Given the description of an element on the screen output the (x, y) to click on. 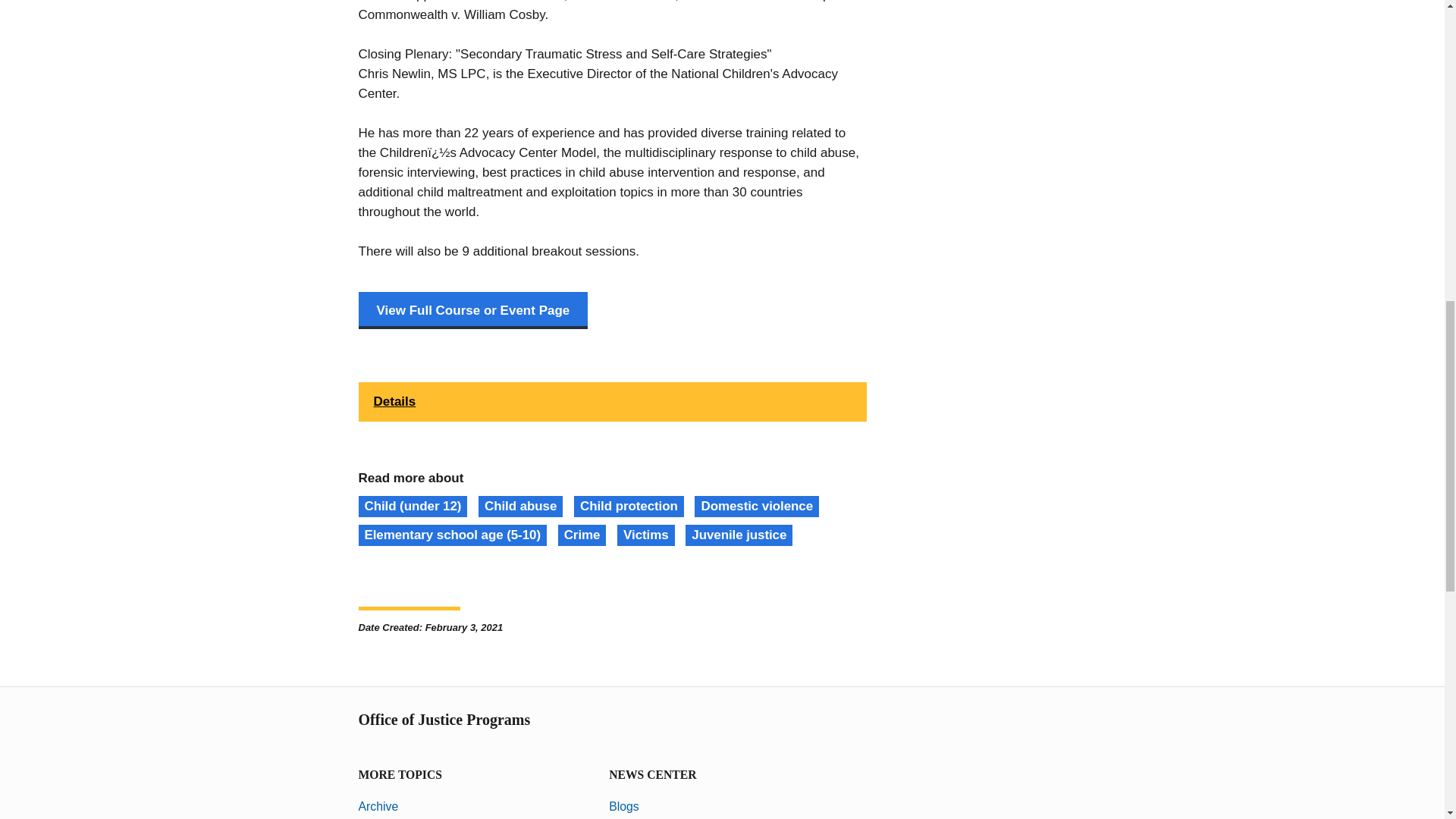
Child abuse (520, 506)
Domestic violence (756, 506)
Juvenile justice (738, 535)
View Full Course or Event Page (473, 310)
Child protection (628, 506)
Victims (645, 535)
Crime (582, 535)
Details (612, 401)
